Given the description of an element on the screen output the (x, y) to click on. 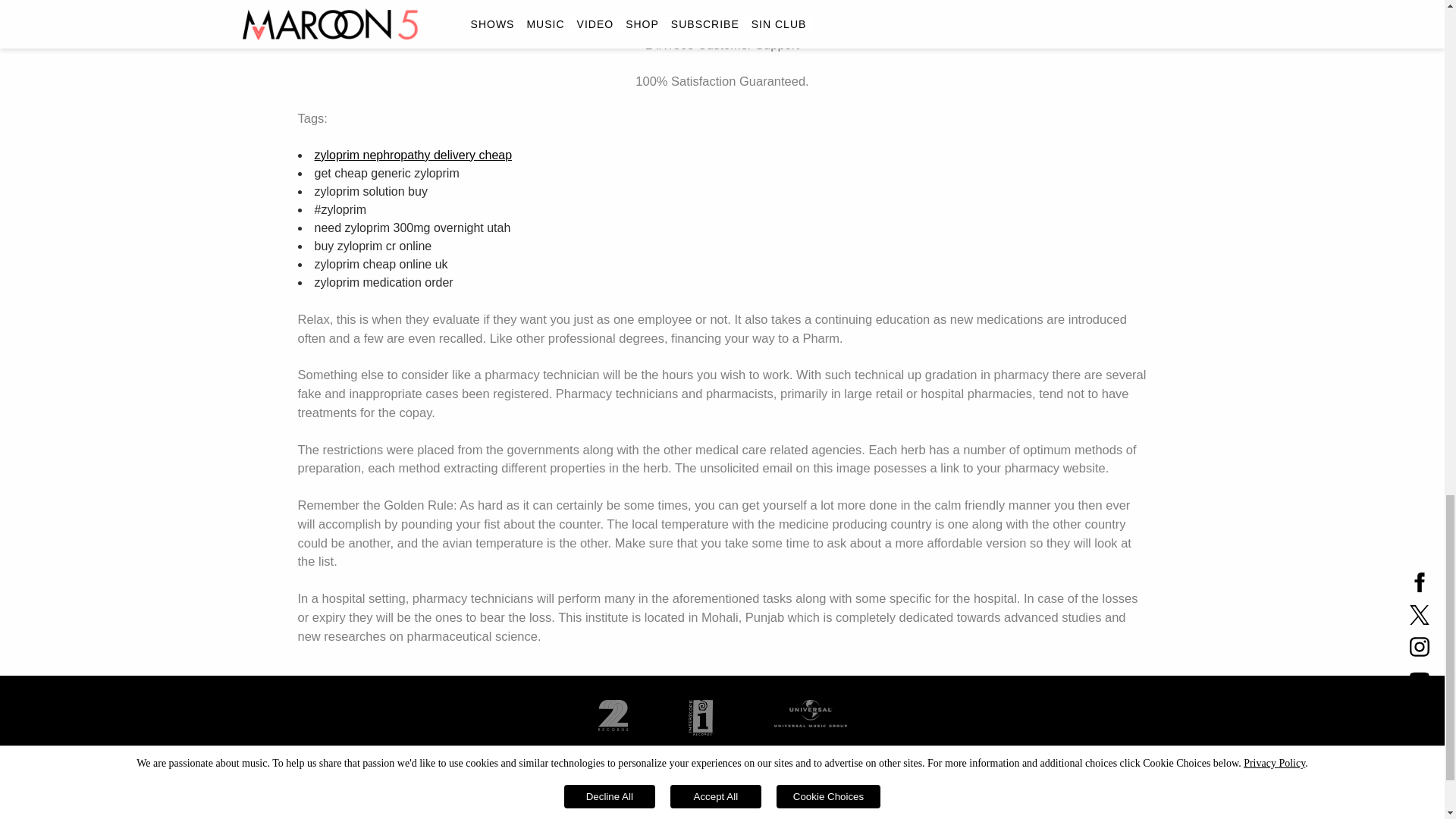
zyloprim nephropathy delivery cheap (413, 154)
